Given the description of an element on the screen output the (x, y) to click on. 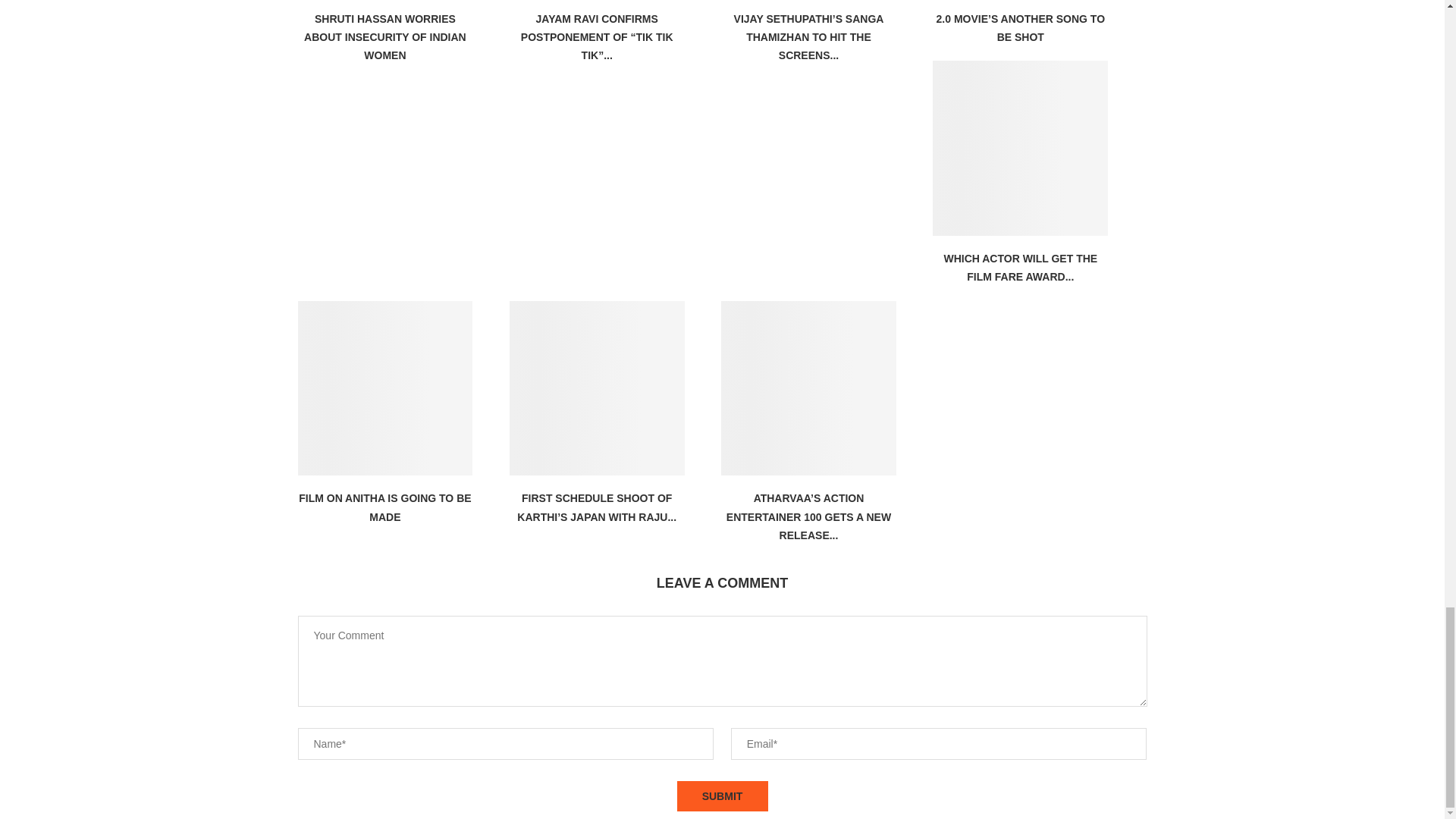
Which actor will get the Film fare award this year? (1020, 147)
WHICH ACTOR WILL GET THE FILM FARE AWARD... (1020, 267)
Submit (722, 796)
SHRUTI HASSAN WORRIES ABOUT INSECURITY OF INDIAN WOMEN (384, 37)
Film on Anitha is going to be made (384, 388)
FILM ON ANITHA IS GOING TO BE MADE (384, 507)
